Given the description of an element on the screen output the (x, y) to click on. 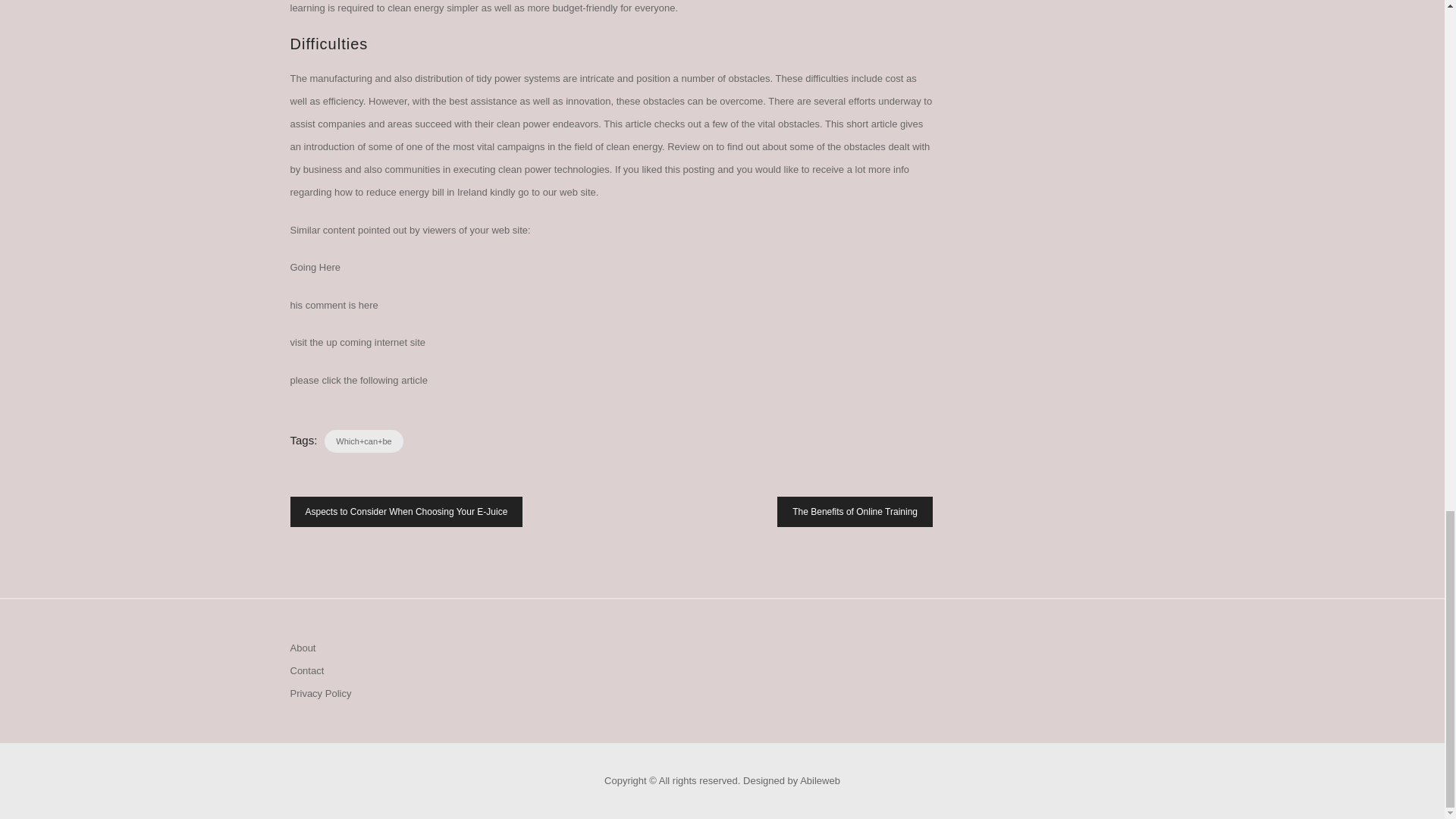
please click the following article (357, 379)
visit the up coming internet site (357, 342)
his comment is here (333, 305)
Privacy Policy (319, 693)
Aspects to Consider When Choosing Your E-Juice (405, 511)
Designed by Abileweb (791, 780)
Going Here (314, 266)
how to reduce energy bill in Ireland (410, 192)
About (302, 647)
Contact (306, 670)
The Benefits of Online Training (855, 511)
